Given the description of an element on the screen output the (x, y) to click on. 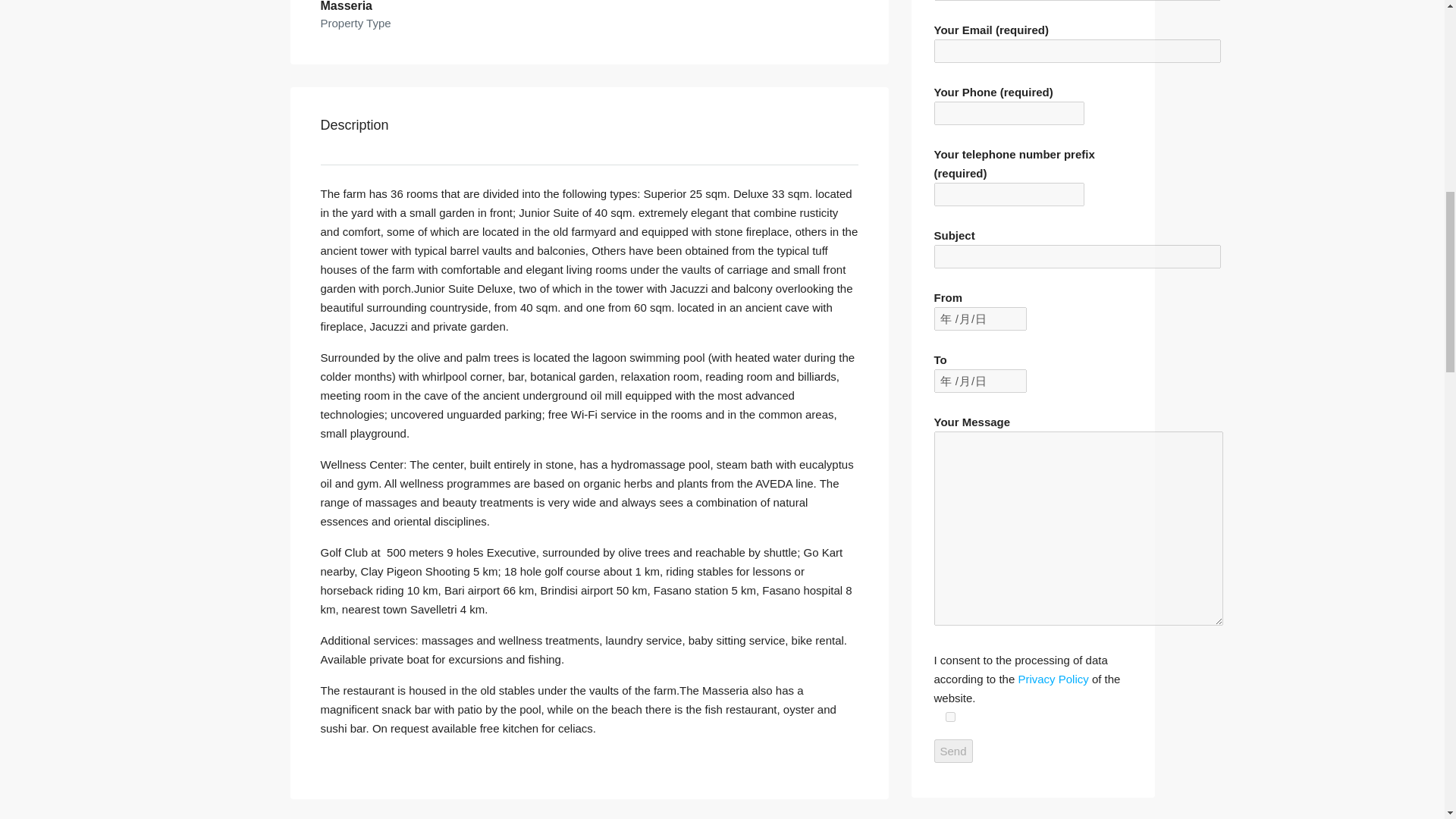
Send (953, 750)
1 (949, 716)
